Given the description of an element on the screen output the (x, y) to click on. 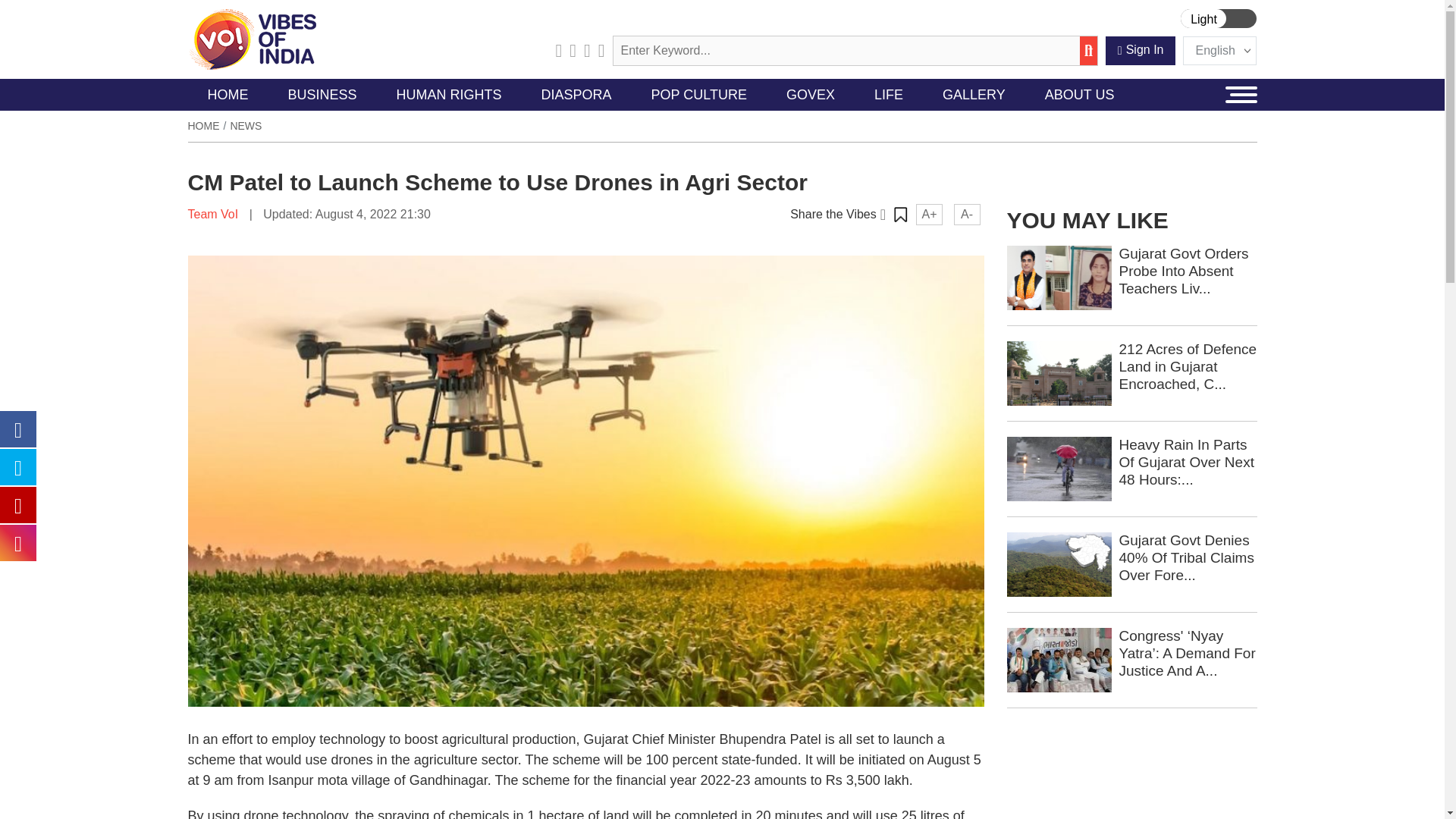
Sign In (1140, 50)
HUMAN RIGHTS (449, 94)
BUSINESS (322, 94)
ABOUT US (1079, 94)
DIASPORA (576, 94)
GALLERY (974, 94)
Vibes of India (251, 39)
